Given the description of an element on the screen output the (x, y) to click on. 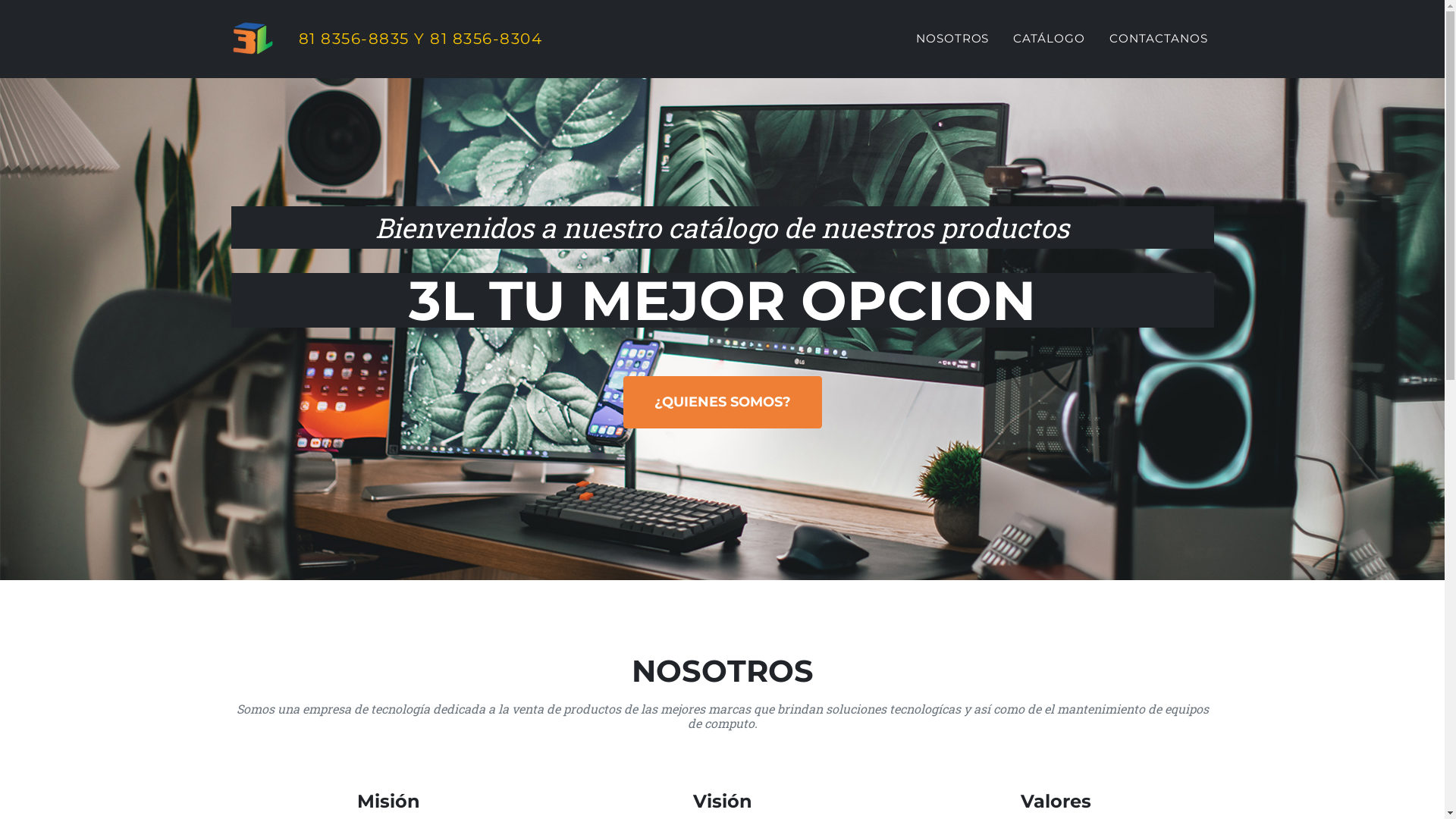
CONTACTANOS Element type: text (1158, 38)
NOSOTROS Element type: text (952, 38)
81 8356-8835 Y 81 8356-8304 Element type: text (386, 38)
